Given the description of an element on the screen output the (x, y) to click on. 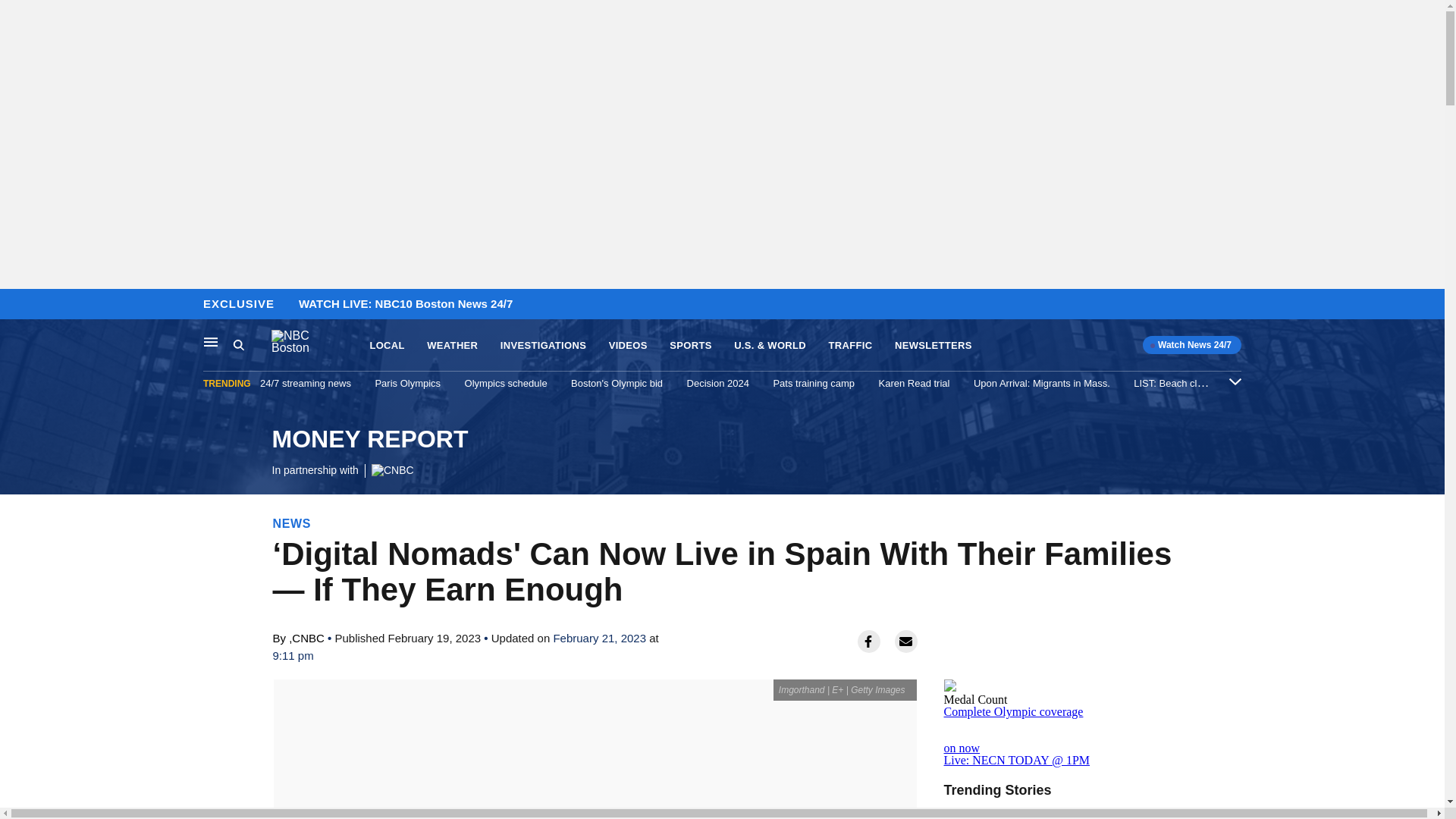
Decision 2024 (718, 383)
Search (252, 345)
LOCAL (386, 345)
SPORTS (690, 345)
TRAFFIC (850, 345)
Olympics schedule (505, 383)
Pats training camp (813, 383)
Karen Read trial (914, 383)
Skip to content (368, 452)
INVESTIGATIONS (16, 304)
WEATHER (543, 345)
NEWSLETTERS (451, 345)
VIDEOS (933, 345)
Upon Arrival: Migrants in Mass. (627, 345)
